Given the description of an element on the screen output the (x, y) to click on. 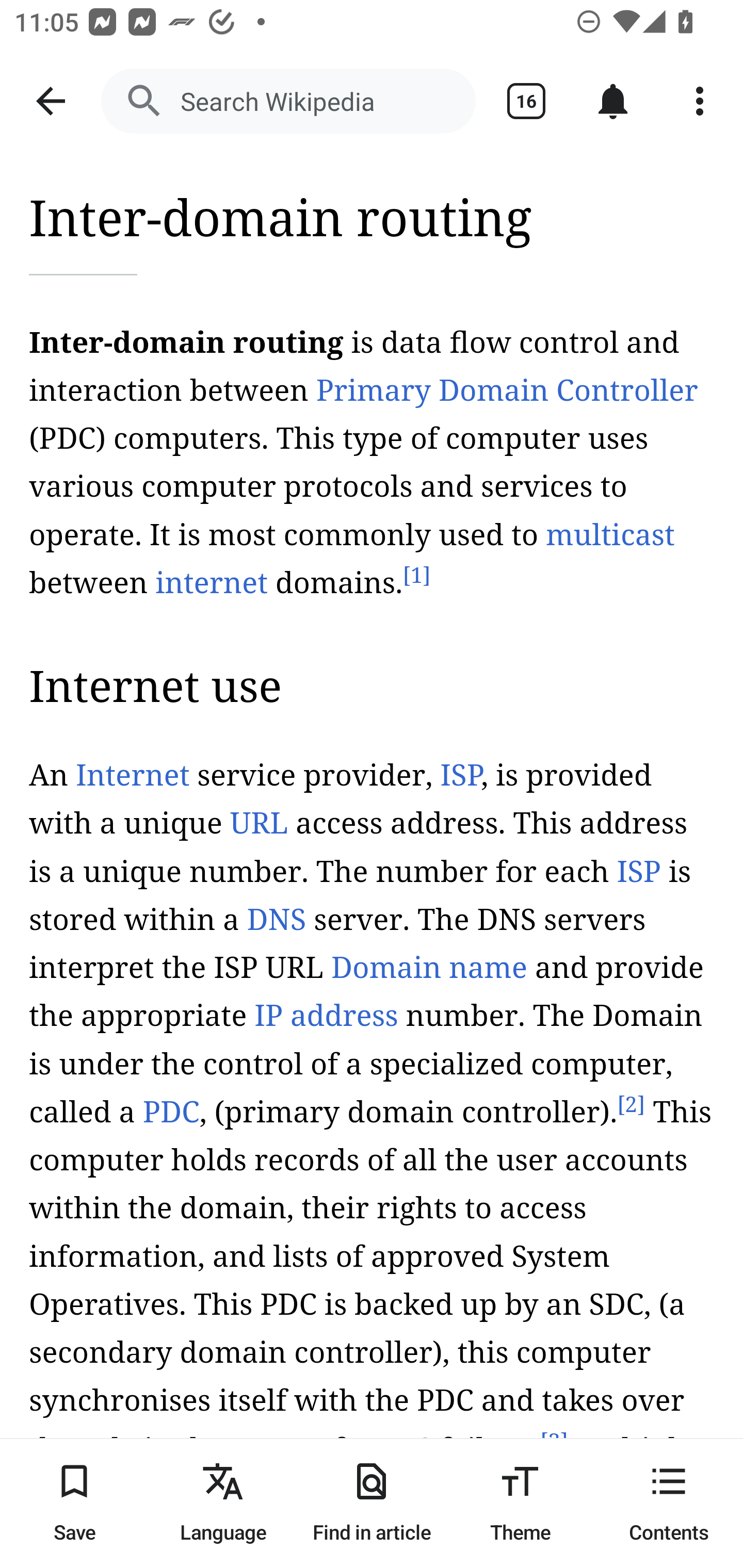
Show tabs 16 (525, 100)
Notifications (612, 100)
Navigate up (50, 101)
More options (699, 101)
Search Wikipedia (288, 100)
# (329, 277)
Primary Domain Controller (506, 390)
multicast (610, 533)
[] [ 1 ] (416, 575)
internet (211, 582)
Internet (132, 776)
ISP (460, 776)
URL (258, 823)
ISP (638, 870)
DNS (275, 921)
Domain name (428, 968)
IP address (325, 1016)
[] [ 2 ] (630, 1105)
PDC (170, 1112)
Save (74, 1502)
Language (222, 1502)
Find in article (371, 1502)
Theme (519, 1502)
Contents (668, 1502)
